Given the description of an element on the screen output the (x, y) to click on. 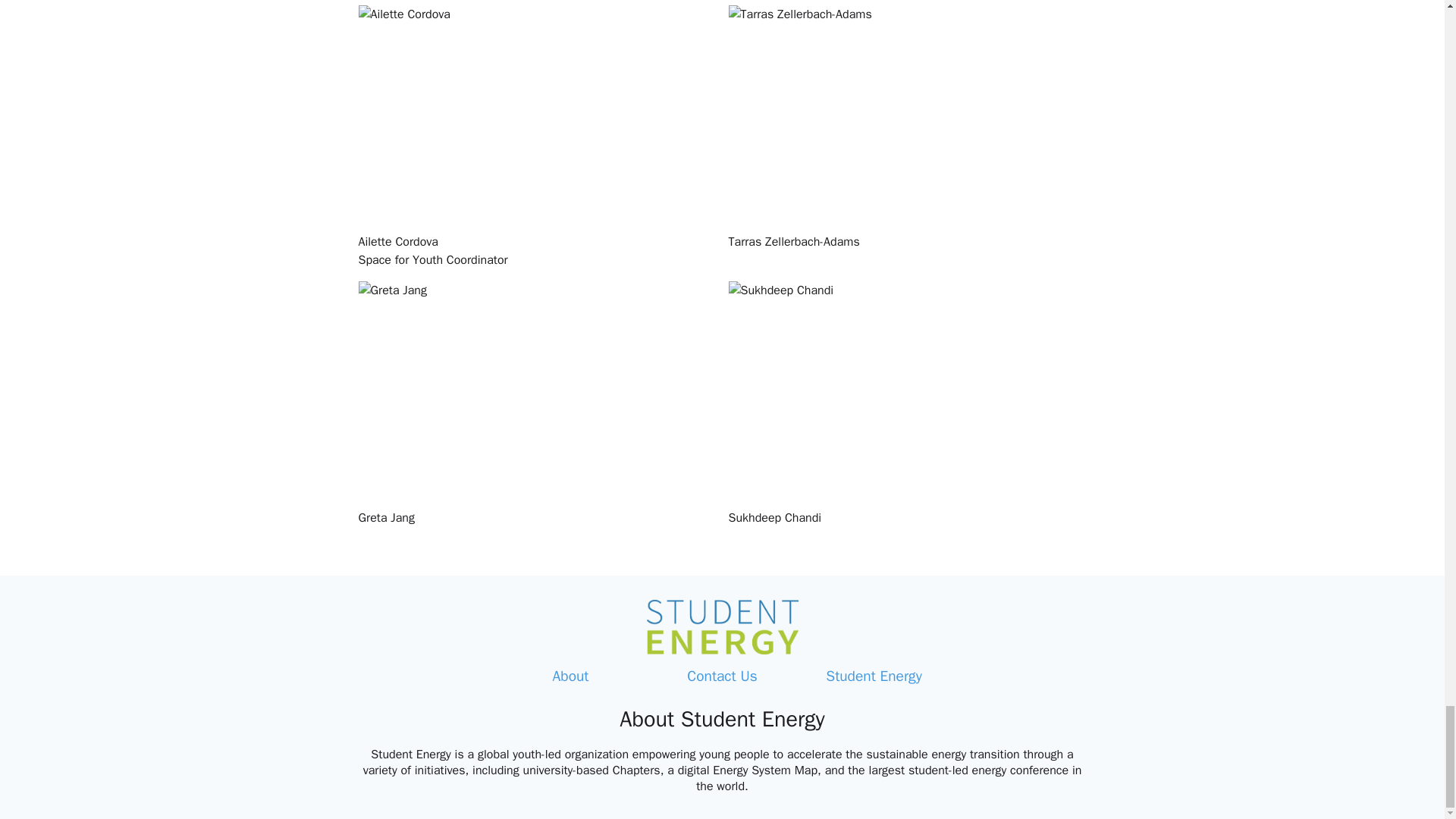
About (570, 676)
Contact Us (721, 676)
Student Energy (873, 676)
